Given the description of an element on the screen output the (x, y) to click on. 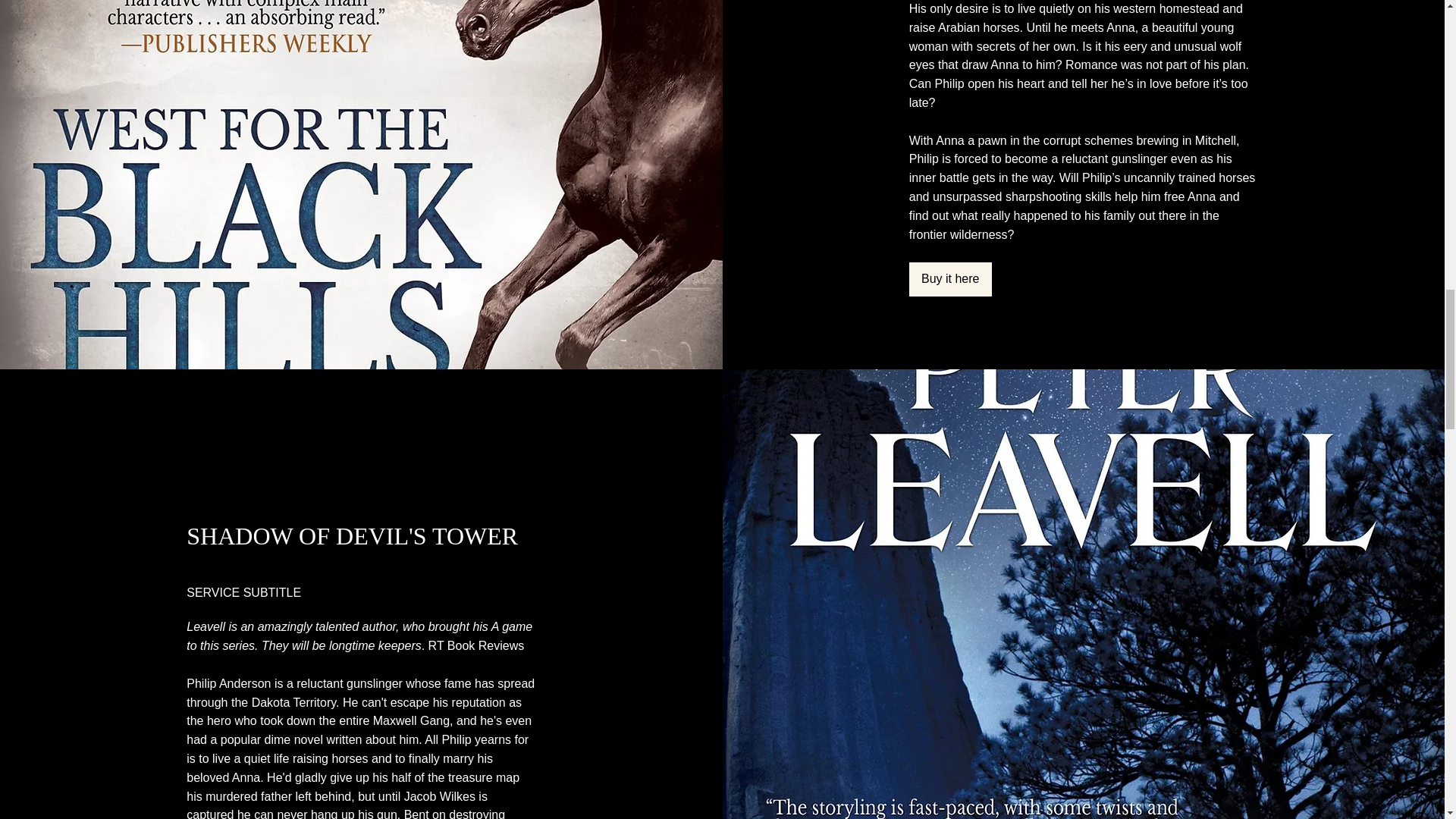
Buy it here (949, 279)
